Given the description of an element on the screen output the (x, y) to click on. 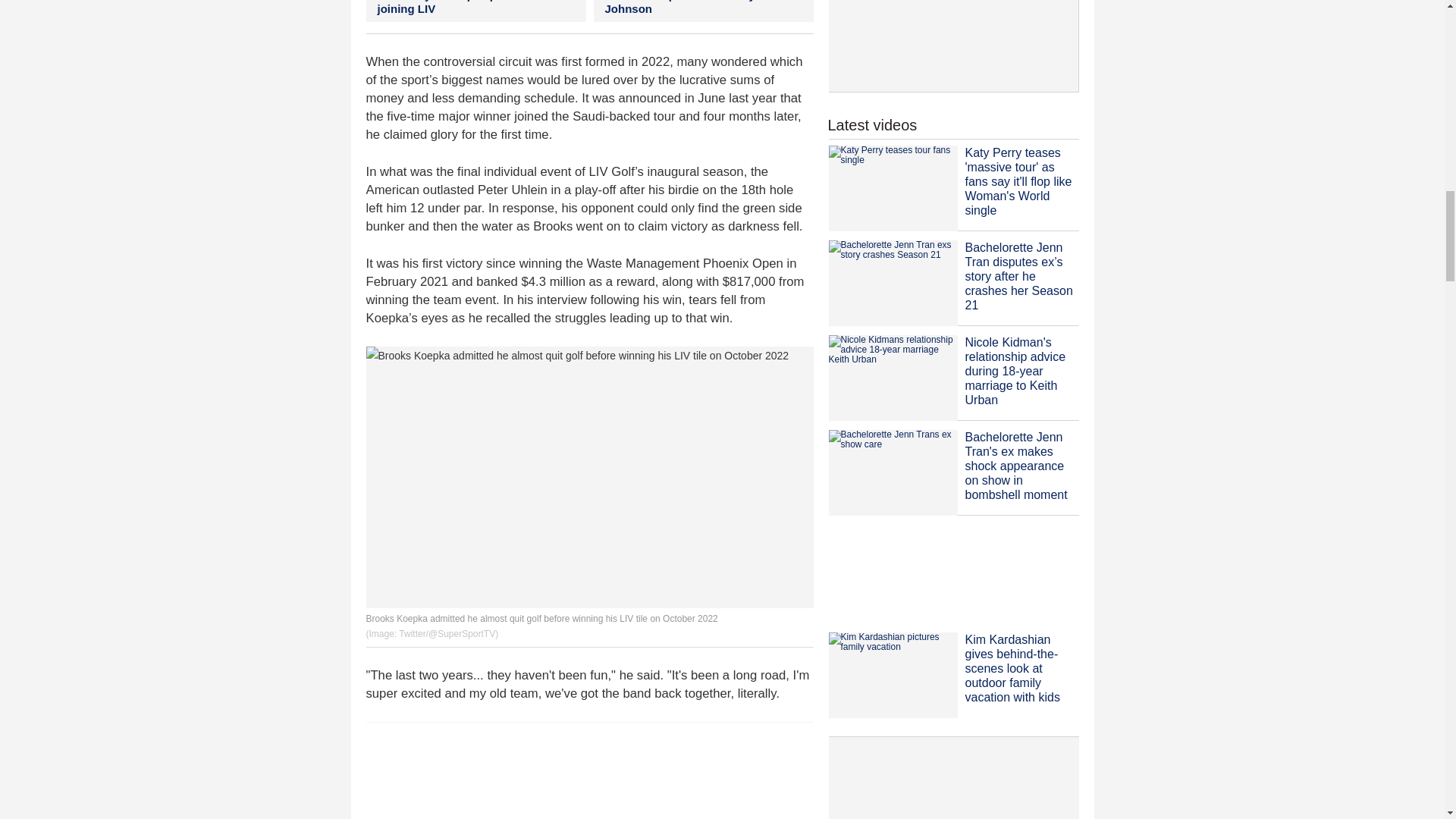
Bachelorette Jenn Tran exs story crashes Season 21 (892, 282)
Bachelorette Jenn Trans ex show care (892, 472)
Katy Perry teases tour fans single (892, 187)
Kim Kardashian pictures family vacation (892, 675)
